Given the description of an element on the screen output the (x, y) to click on. 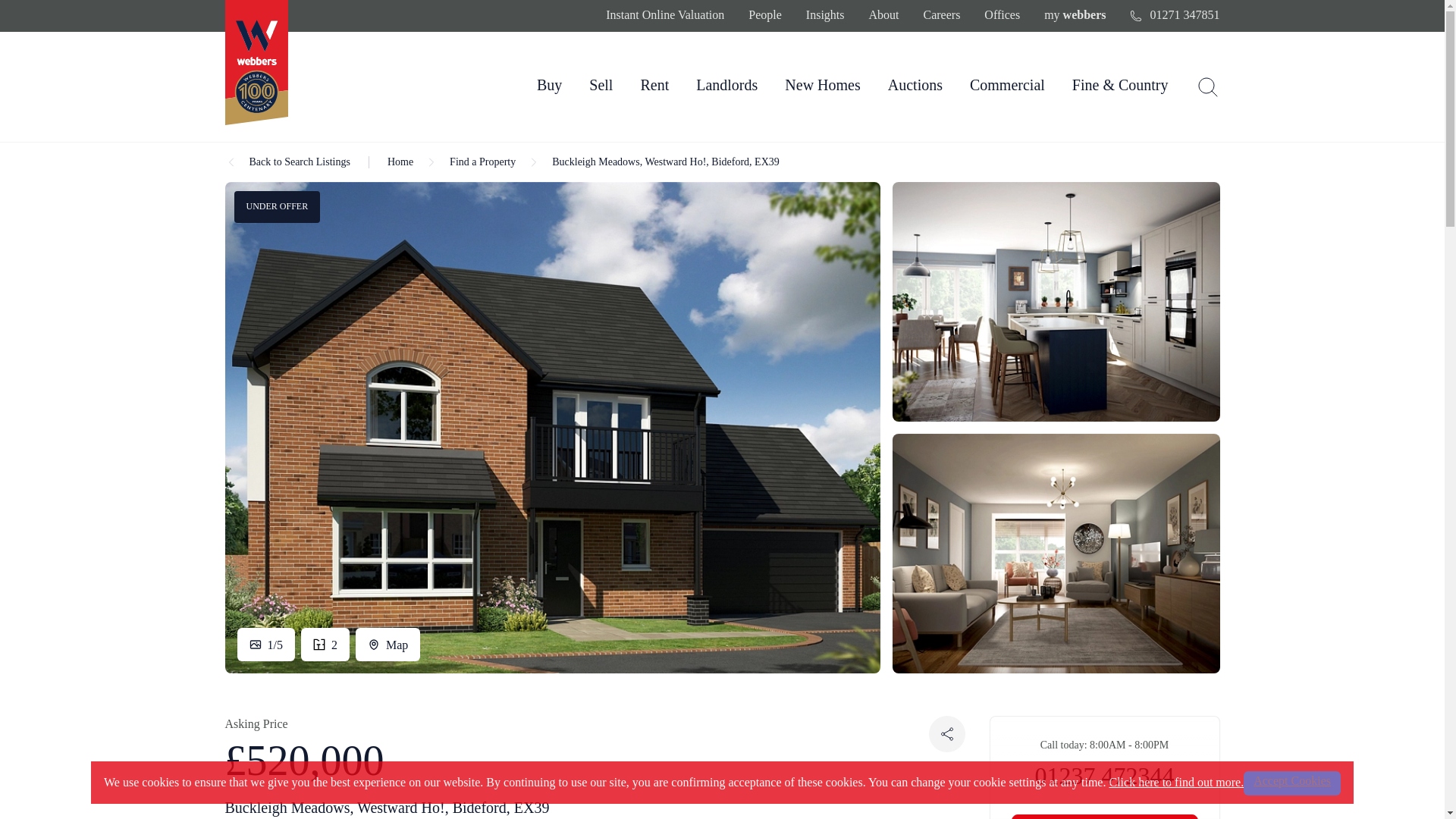
New Homes (822, 84)
my webbers (1074, 14)
Auctions (915, 84)
01271 347851 (1174, 14)
Commercial (1007, 84)
Landlords (726, 84)
Rent (654, 84)
People (764, 14)
Buy (549, 84)
Insights (825, 14)
